Given the description of an element on the screen output the (x, y) to click on. 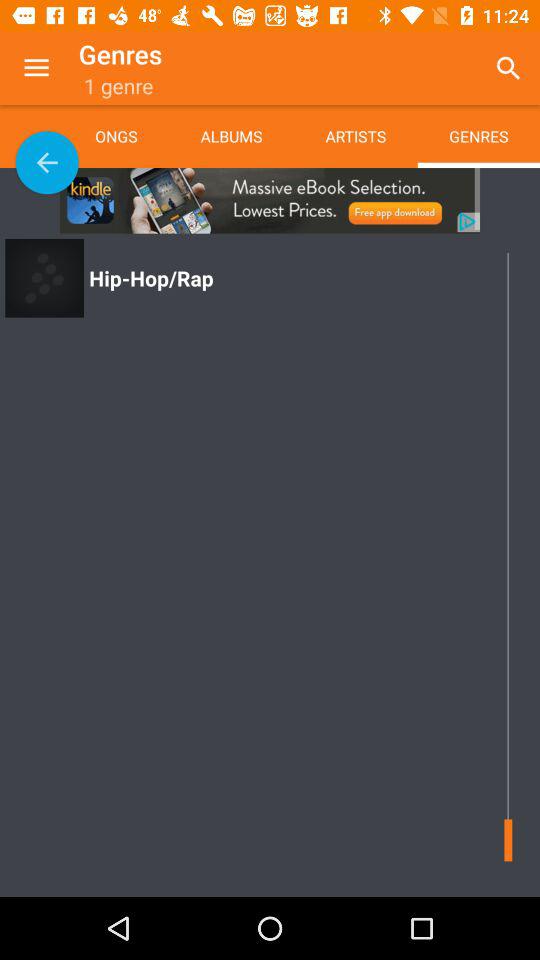
flip until songs (131, 136)
